Given the description of an element on the screen output the (x, y) to click on. 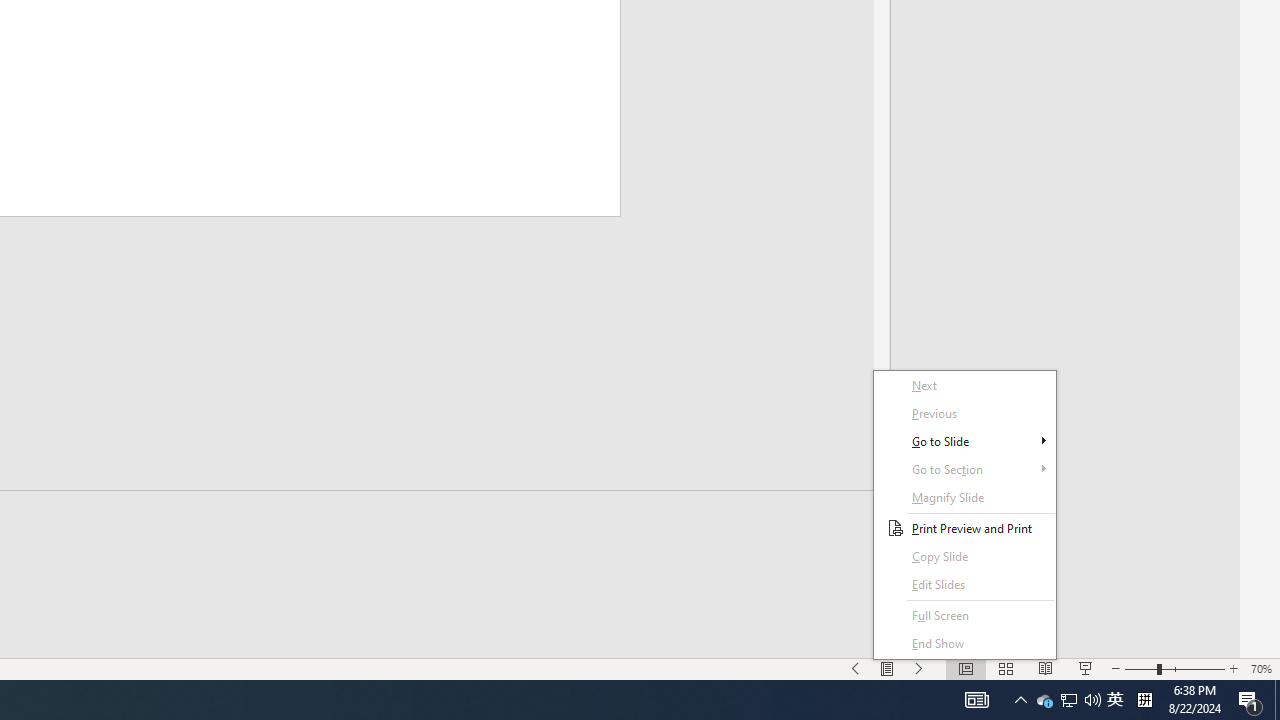
Print Preview and Print (964, 528)
Slide Show Previous On (1044, 699)
Action Center, 1 new notification (855, 668)
End Show (1250, 699)
Magnify Slide (964, 644)
Go to Section (964, 497)
Zoom 70% (964, 469)
